Given the description of an element on the screen output the (x, y) to click on. 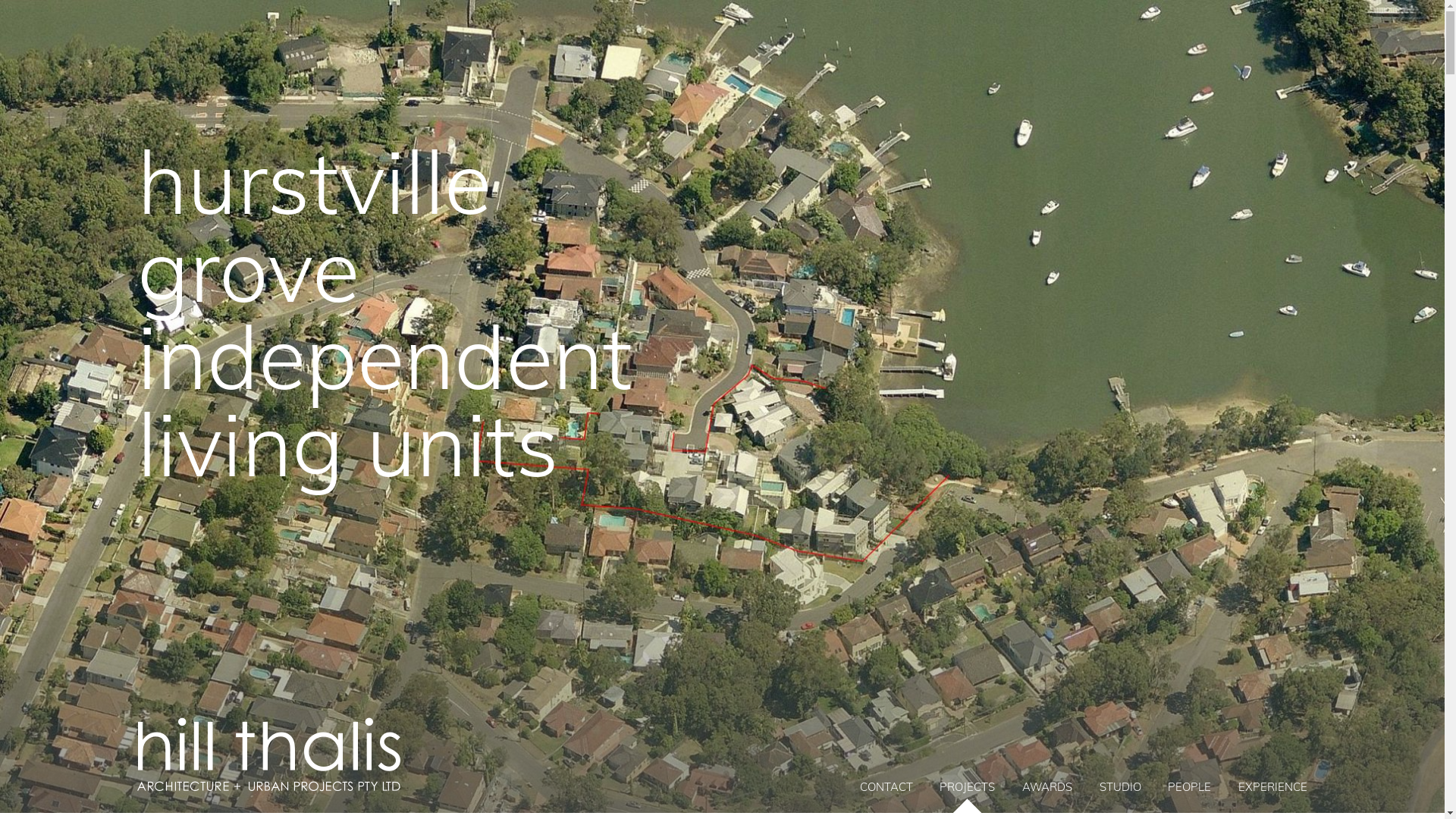
PROJECTS Element type: text (966, 786)
Hill Thalis Architecture + Urban Projects Pty Ltd Element type: text (429, 746)
PEOPLE Element type: text (1189, 786)
AWARDS Element type: text (1047, 786)
STUDIO Element type: text (1120, 786)
EXPERIENCE Element type: text (1272, 786)
CONTACT Element type: text (886, 786)
